Given the description of an element on the screen output the (x, y) to click on. 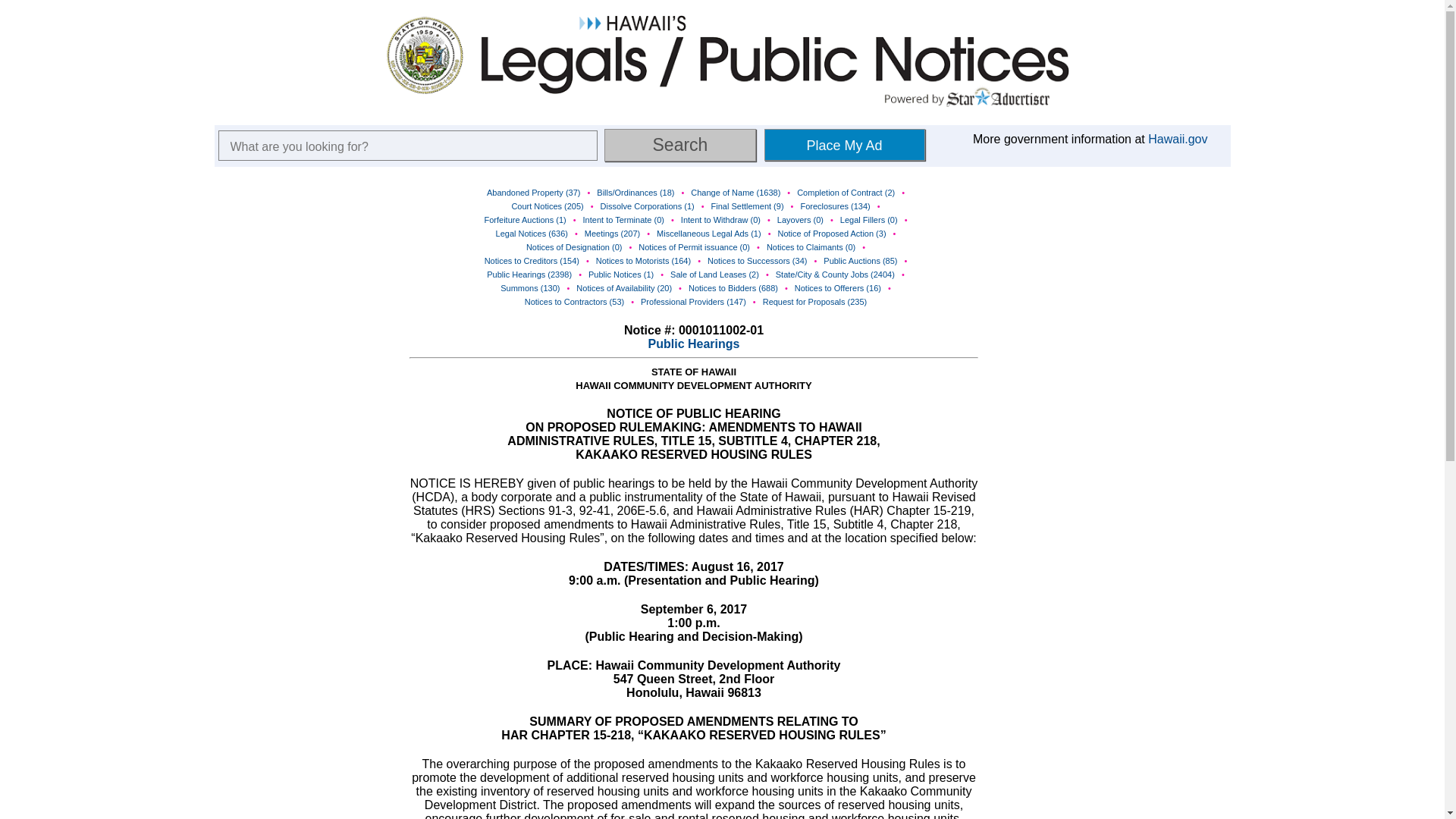
Hawaii.gov (1177, 138)
Search for: (407, 145)
Search (679, 144)
Place My Ad (844, 144)
Public Hearings (693, 343)
Search (679, 144)
